Given the description of an element on the screen output the (x, y) to click on. 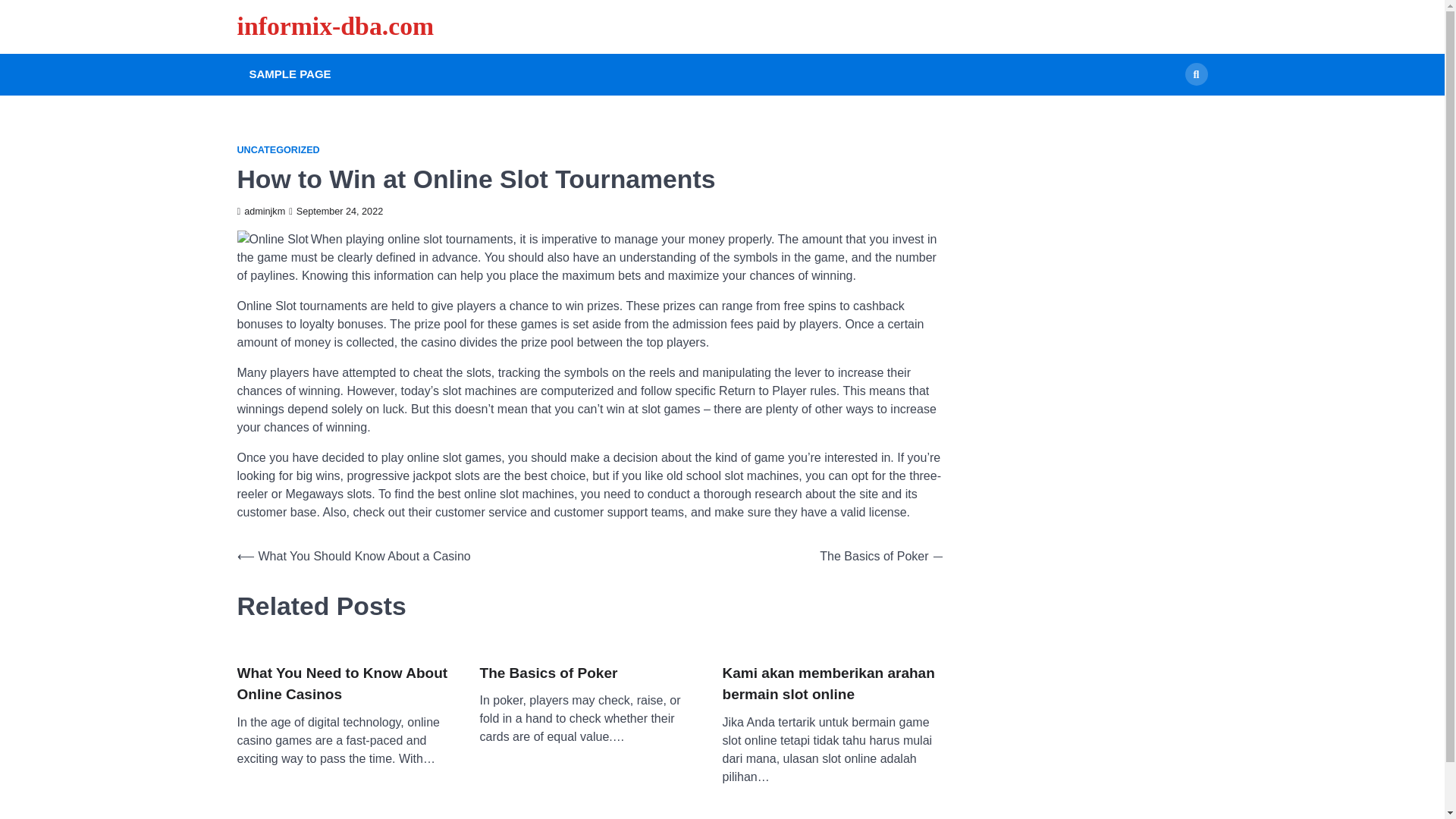
informix-dba.com (334, 26)
UNCATEGORIZED (276, 150)
What You Need to Know About Online Casinos (346, 683)
Search (1168, 109)
September 24, 2022 (335, 211)
adminjkm (260, 211)
Kami akan memberikan arahan bermain slot online (832, 683)
Search (1196, 74)
SAMPLE PAGE (289, 74)
The Basics of Poker (548, 673)
